Given the description of an element on the screen output the (x, y) to click on. 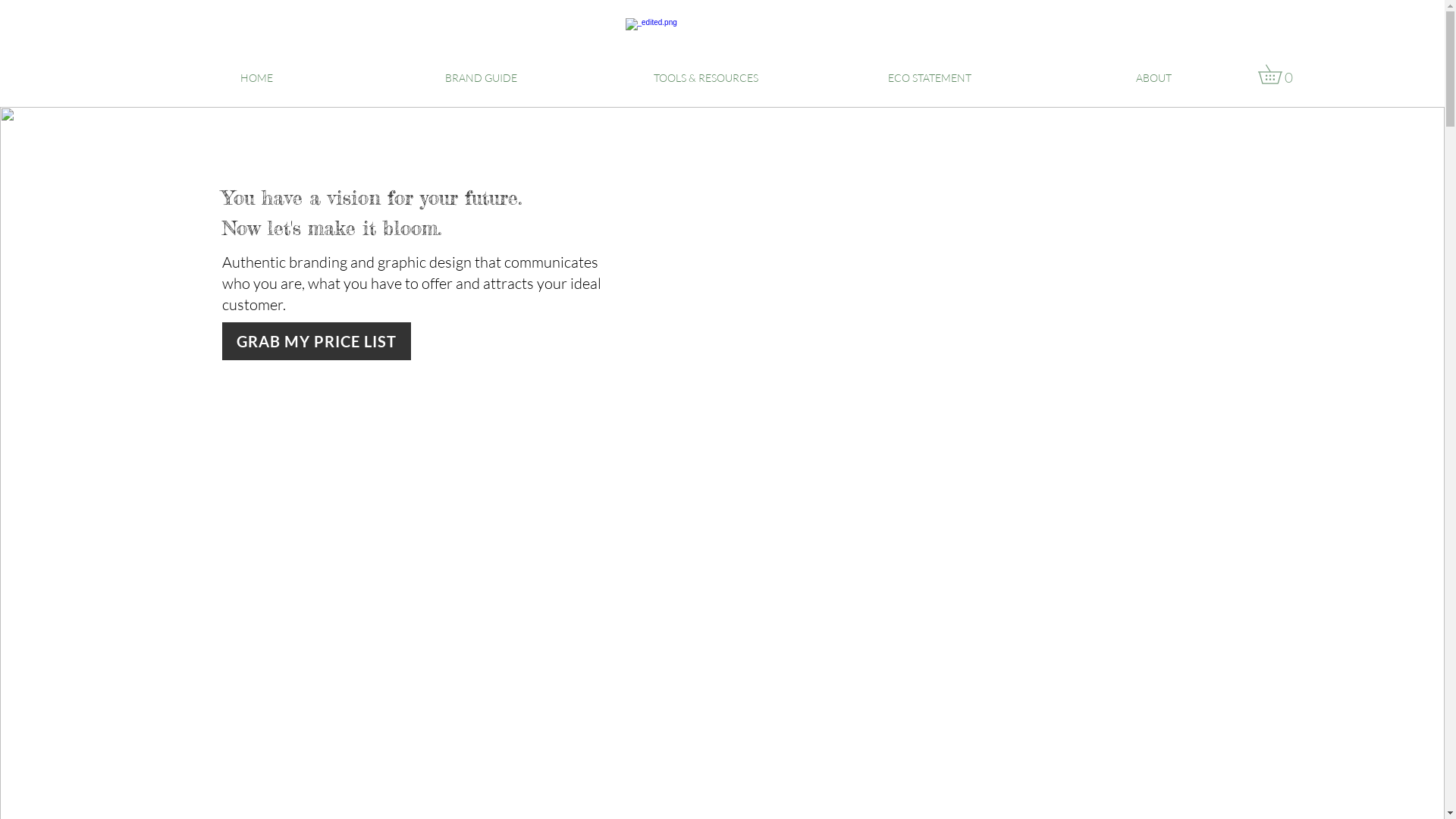
HOME Element type: text (256, 77)
BRAND GUIDE Element type: text (480, 77)
ECO STATEMENT Element type: text (929, 77)
GRAB MY PRICE LIST Element type: text (315, 341)
ABOUT Element type: text (1153, 77)
TOOLS & RESOURCES Element type: text (705, 77)
0 Element type: text (1278, 74)
